Given the description of an element on the screen output the (x, y) to click on. 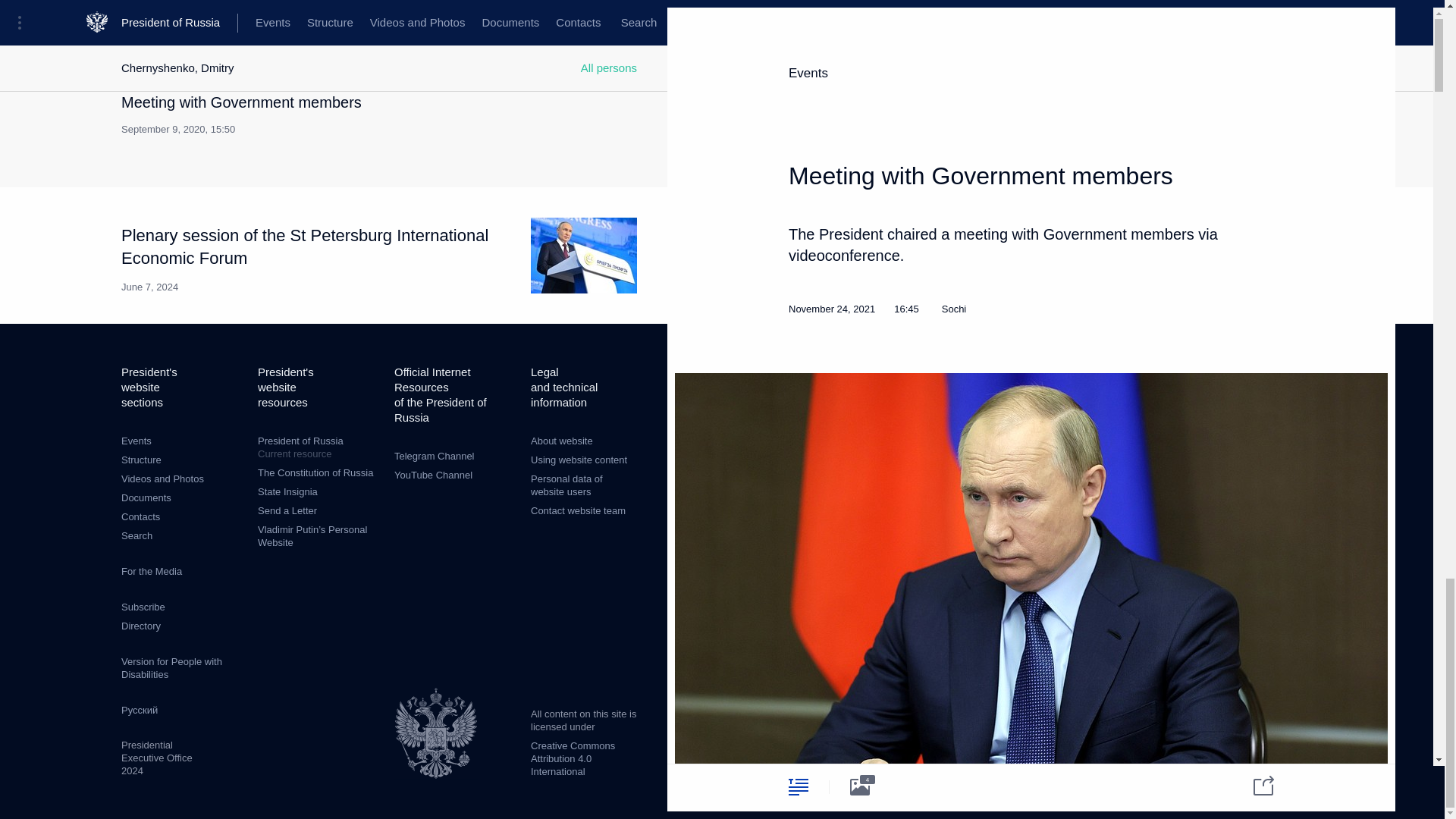
Videos and Photos (161, 478)
Events (321, 114)
Documents (135, 440)
Contacts (145, 497)
Structure (140, 516)
Search (140, 460)
